Given the description of an element on the screen output the (x, y) to click on. 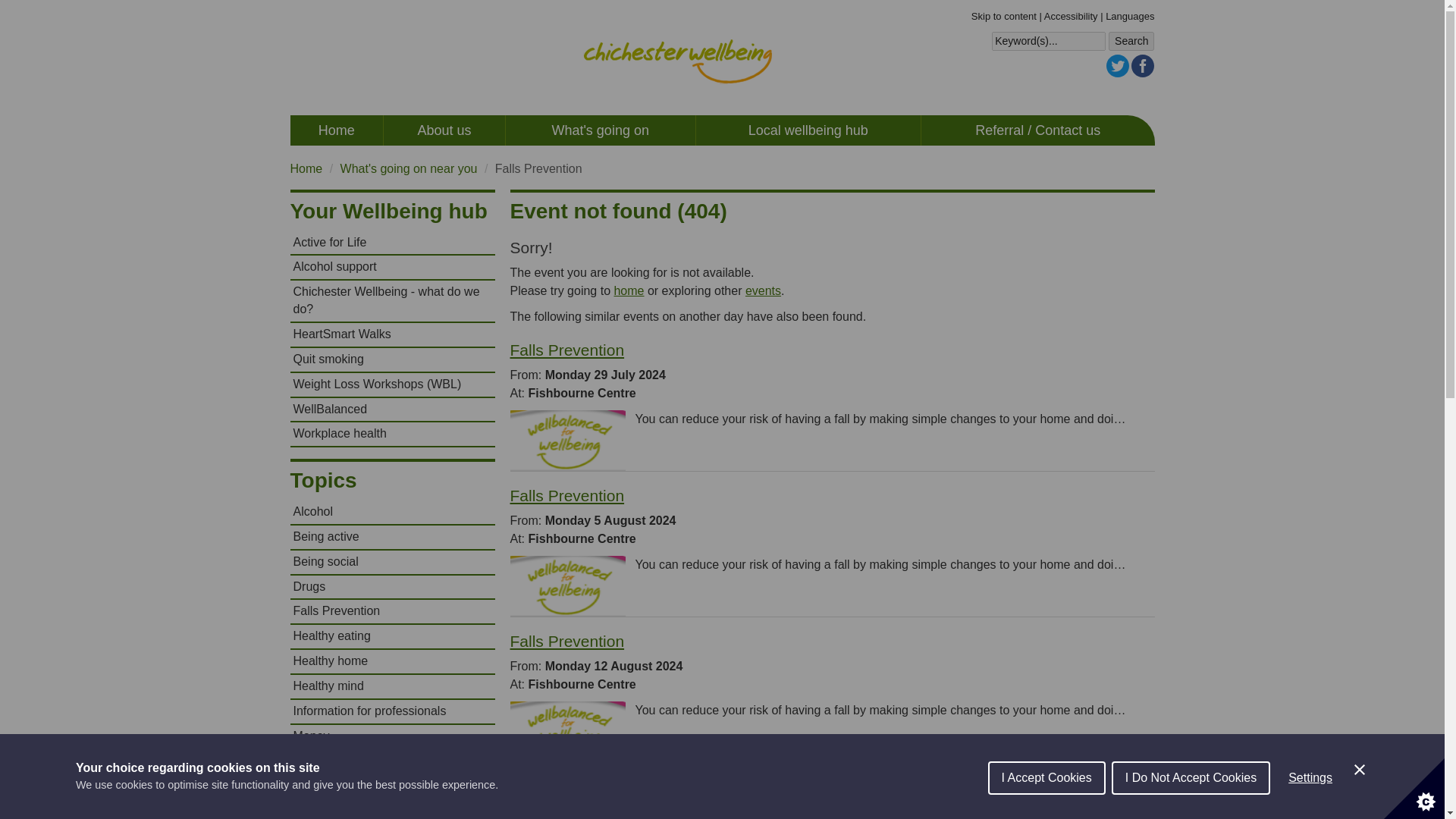
WellBalanced (392, 409)
Alcohol (392, 512)
Skip to content (1003, 16)
Quit smoking (392, 359)
Alcohol support (392, 267)
Settings (1309, 808)
HeartSmart Walks (392, 334)
Search (1131, 41)
Falls Prevention (566, 495)
events (762, 290)
Home (305, 168)
Search (1131, 41)
Local wellbeing hub (807, 130)
Chichester Wellbeing - what do we do? (392, 300)
Falls Prevention (566, 786)
